Given the description of an element on the screen output the (x, y) to click on. 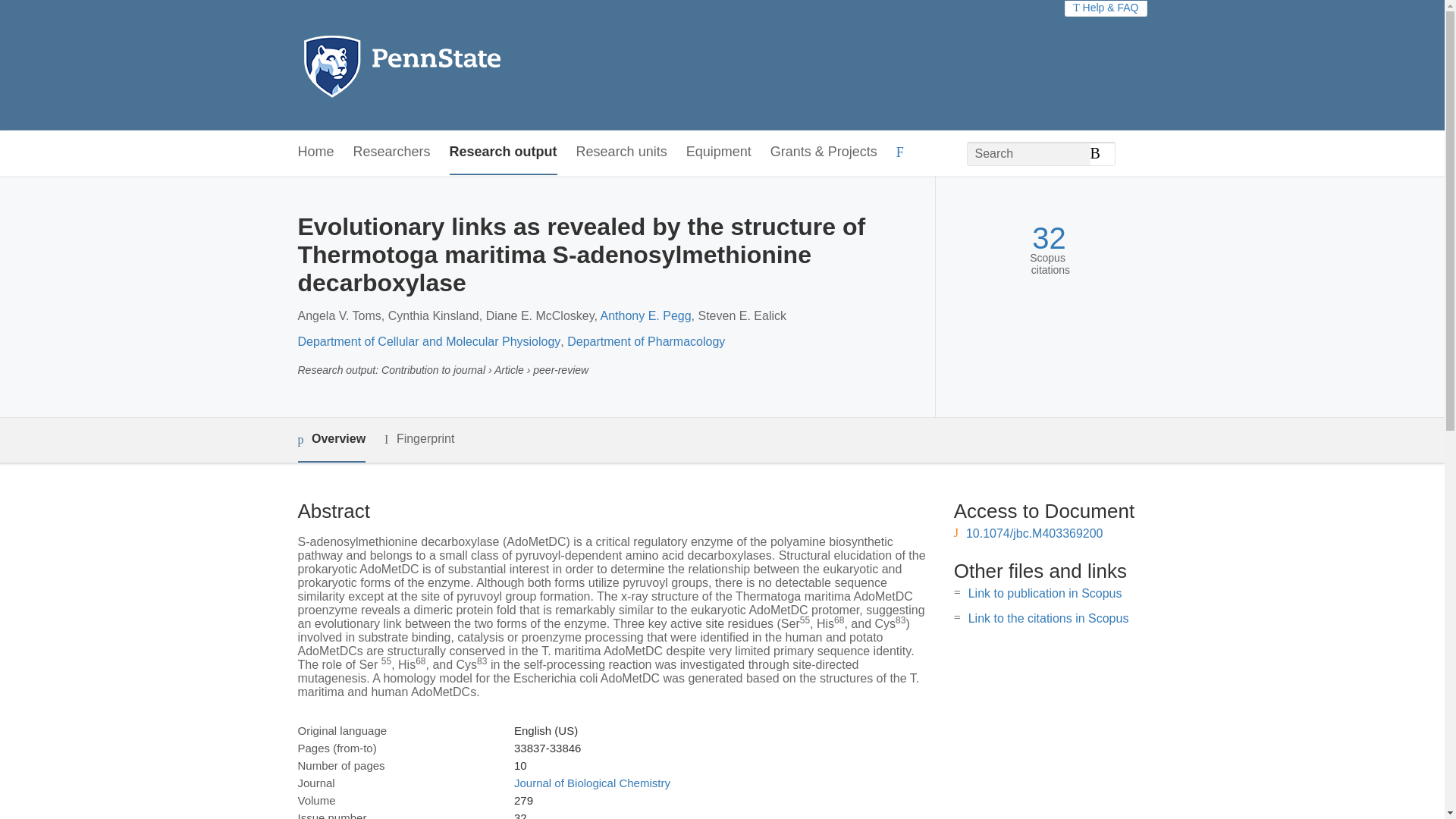
Department of Pharmacology (646, 341)
Research output (503, 152)
32 (1048, 238)
Department of Cellular and Molecular Physiology (428, 341)
Researchers (391, 152)
Research units (621, 152)
Equipment (718, 152)
Link to the citations in Scopus (1048, 617)
Penn State Home (467, 65)
